Given the description of an element on the screen output the (x, y) to click on. 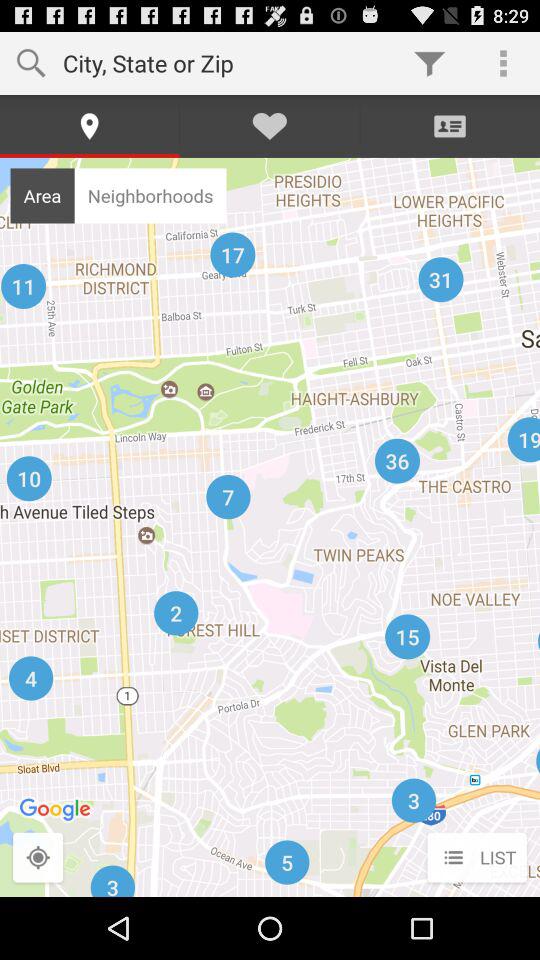
choose icon at the center (270, 526)
